Given the description of an element on the screen output the (x, y) to click on. 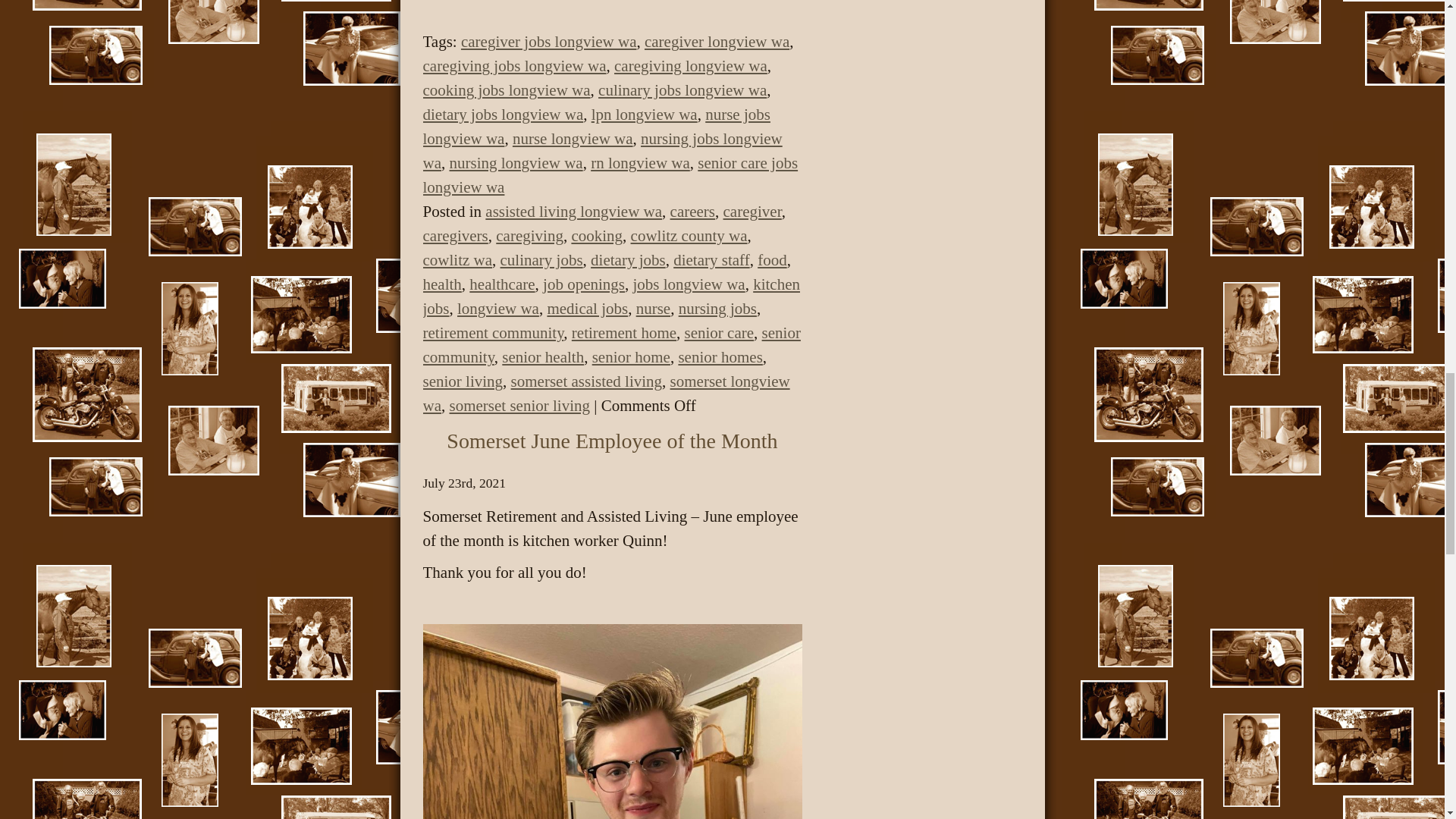
careers (691, 211)
caregiver (752, 211)
culinary jobs longview wa (682, 90)
cooking jobs longview wa (507, 90)
nursing longview wa (515, 162)
nursing jobs longview wa (603, 150)
lpn longview wa (644, 114)
caregivers (455, 235)
caregiver jobs longview wa (549, 41)
caregiving longview wa (690, 65)
assisted living longview wa (573, 211)
caregiver longview wa (717, 41)
nurse longview wa (572, 138)
cowlitz county wa (689, 235)
caregiving jobs longview wa (515, 65)
